Given the description of an element on the screen output the (x, y) to click on. 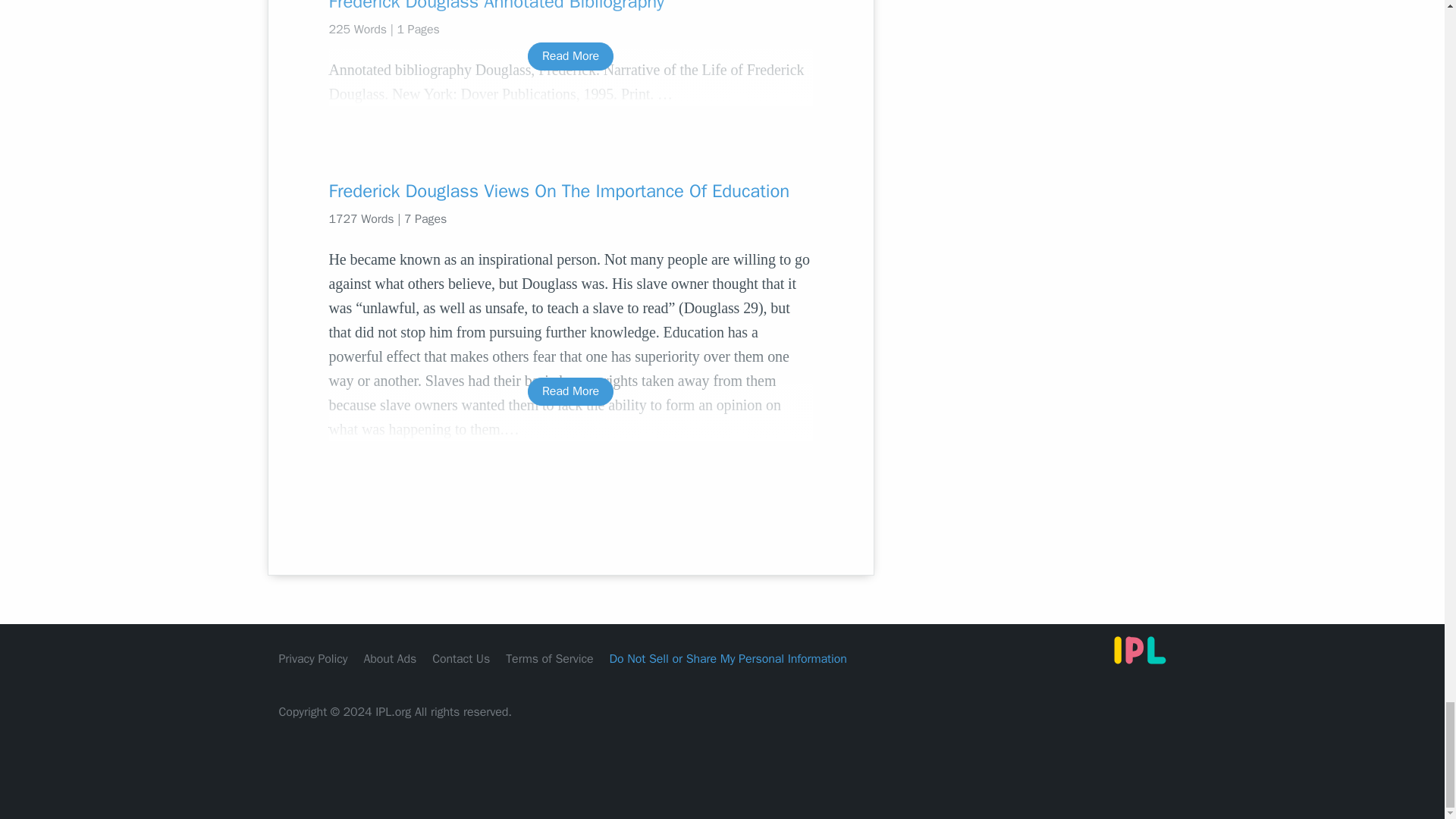
Contact Us (460, 658)
Terms of Service (548, 658)
About Ads (389, 658)
Privacy Policy (313, 658)
